Given the description of an element on the screen output the (x, y) to click on. 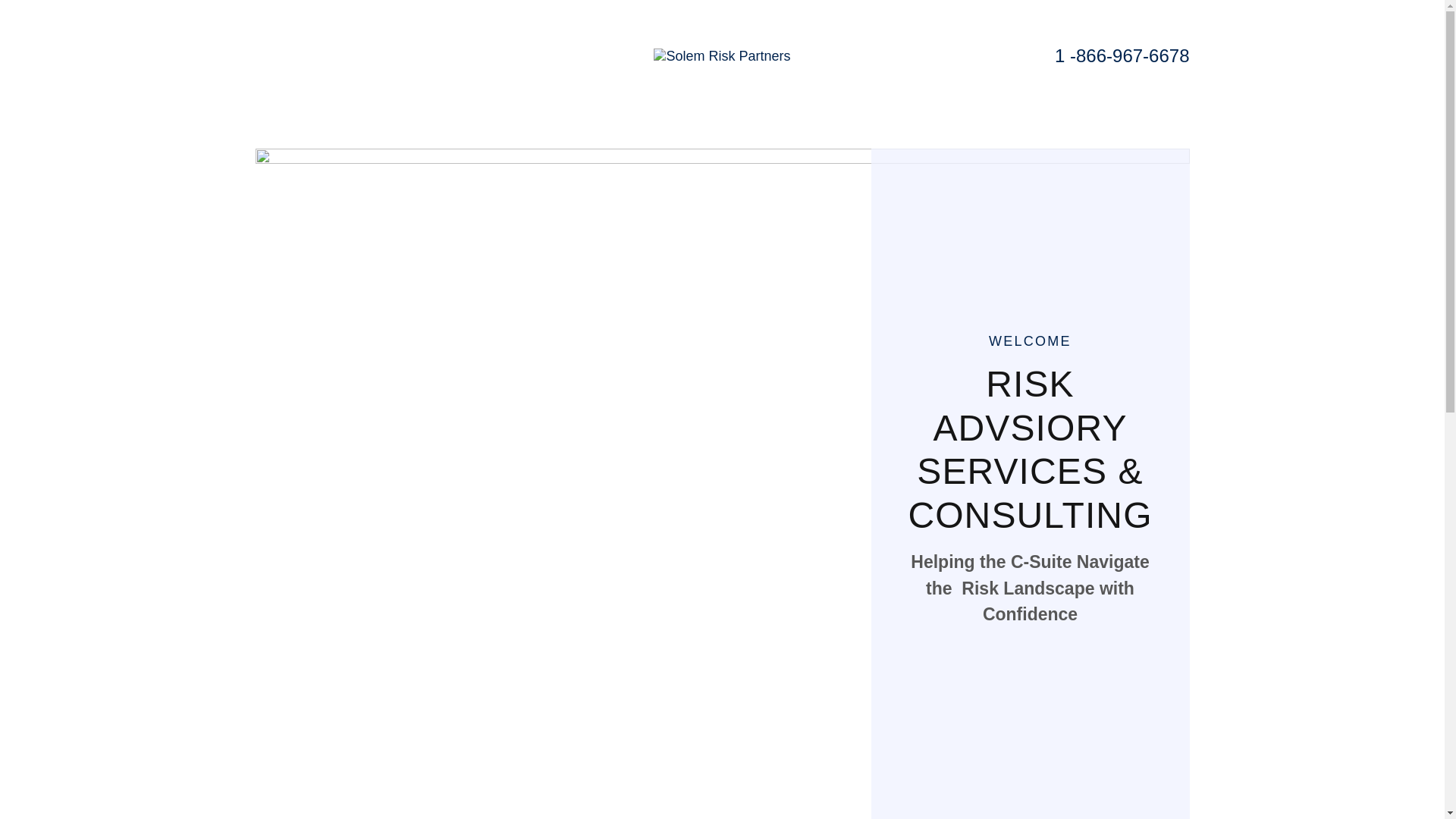
Solem Risk Partners (721, 55)
1 -866-967-6678 (1121, 55)
